Given the description of an element on the screen output the (x, y) to click on. 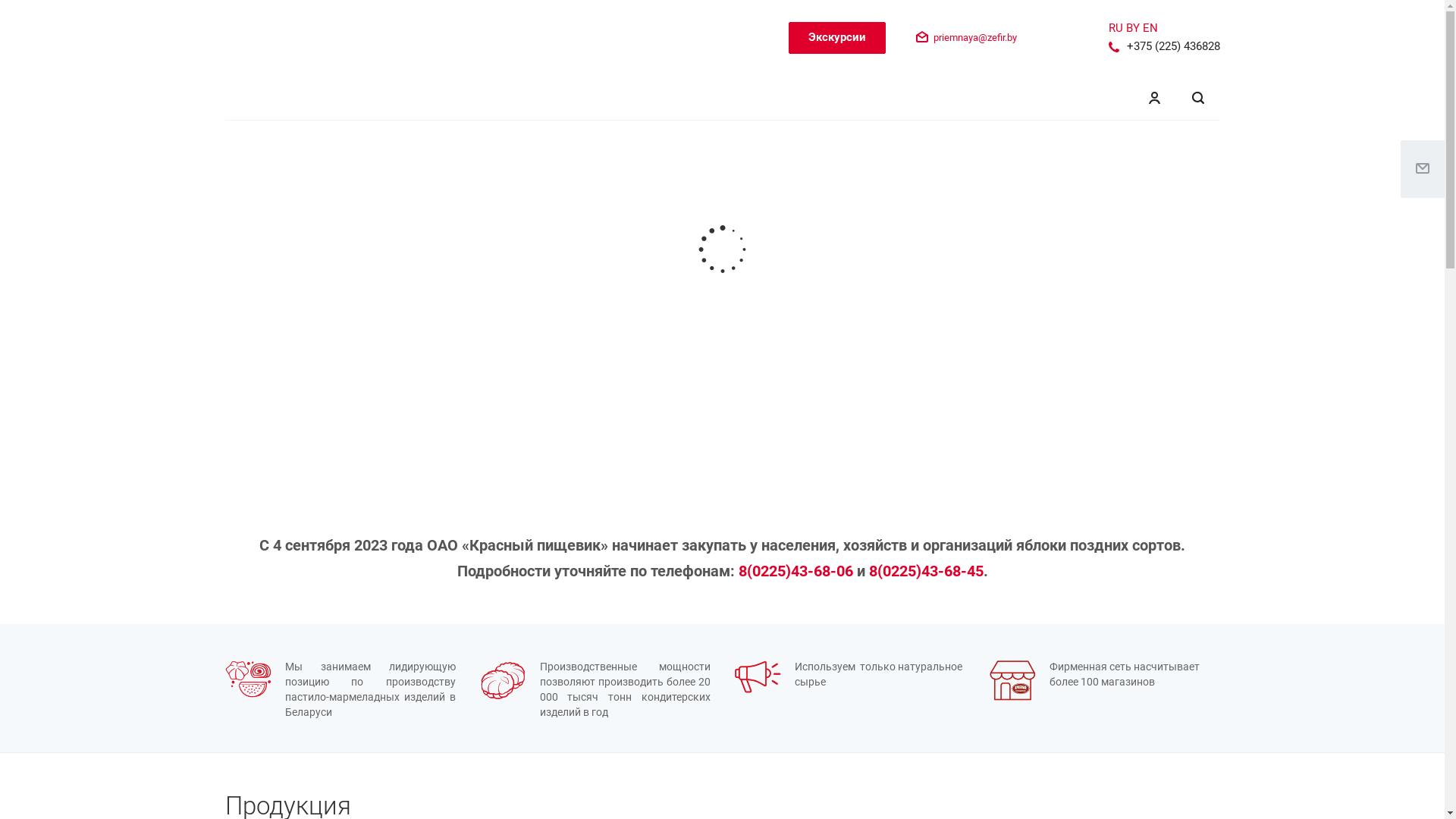
8(0225)43-68-06 Element type: text (795, 570)
RU Element type: text (1115, 27)
EN Element type: text (1149, 27)
  Element type: hover (1011, 680)
  Element type: hover (502, 680)
+375 (225) 436828 Element type: text (1173, 46)
8(0225)43-68-45 Element type: text (926, 570)
priemnaya@zefir.by Element type: text (974, 37)
  Element type: hover (757, 676)
  Element type: hover (247, 678)
